Given the description of an element on the screen output the (x, y) to click on. 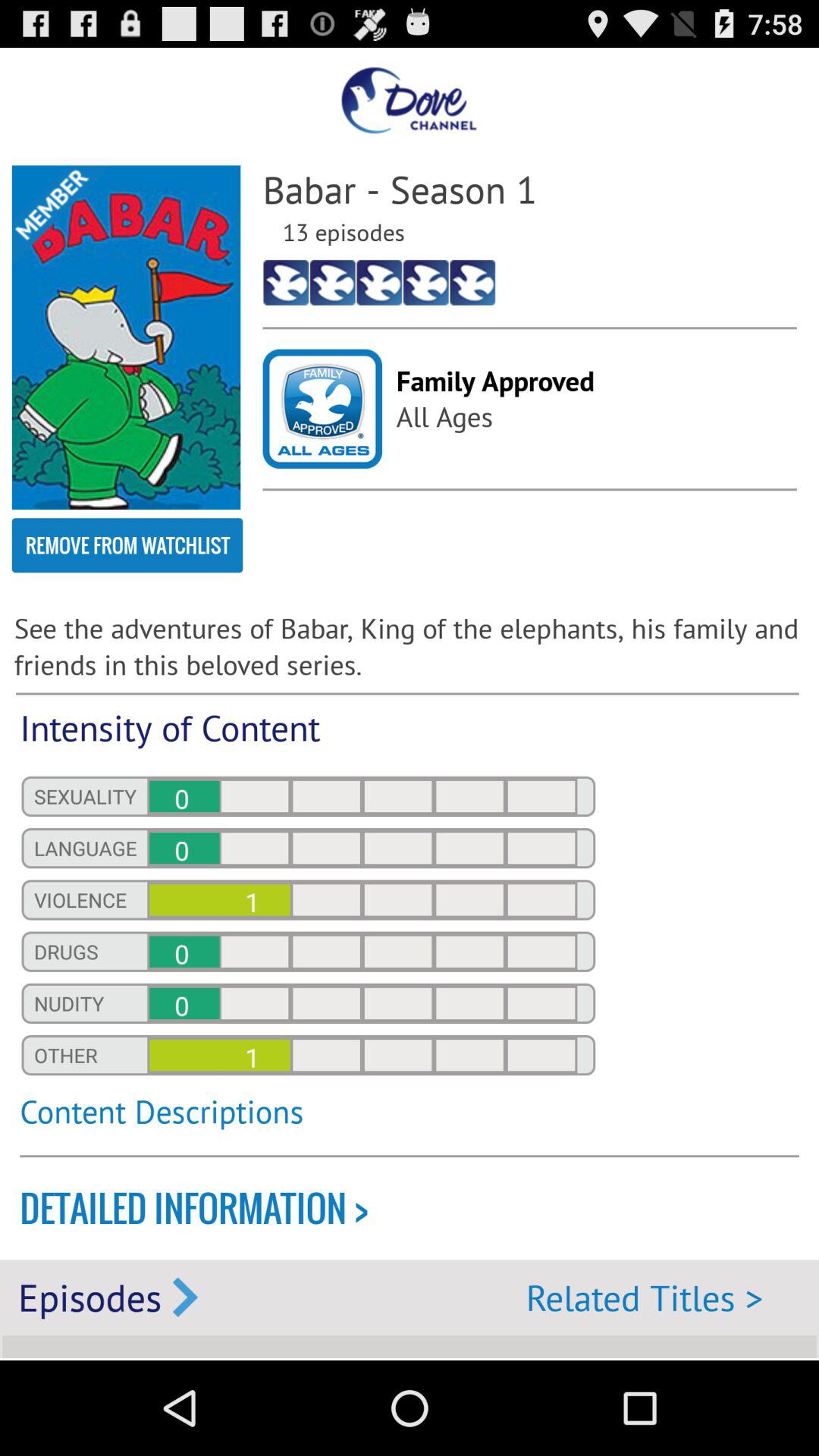
flip until detailed information > item (419, 1208)
